Given the description of an element on the screen output the (x, y) to click on. 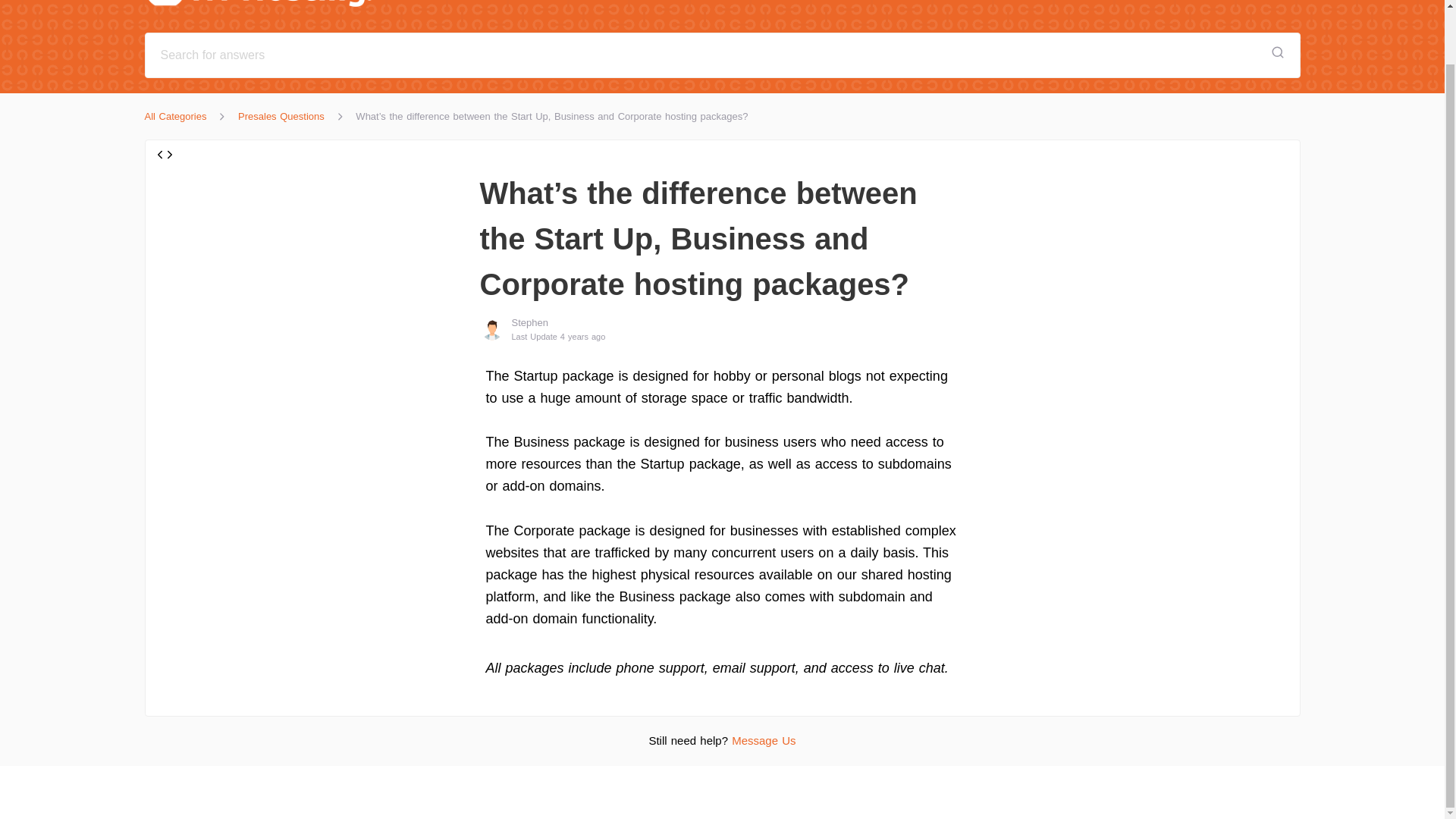
Presales Questions (281, 116)
Service Status (1031, 1)
Contact Support (1132, 1)
All Categories (175, 116)
Help Centre (313, 8)
wphosting.com.au (1243, 1)
Message Us (763, 739)
